Given the description of an element on the screen output the (x, y) to click on. 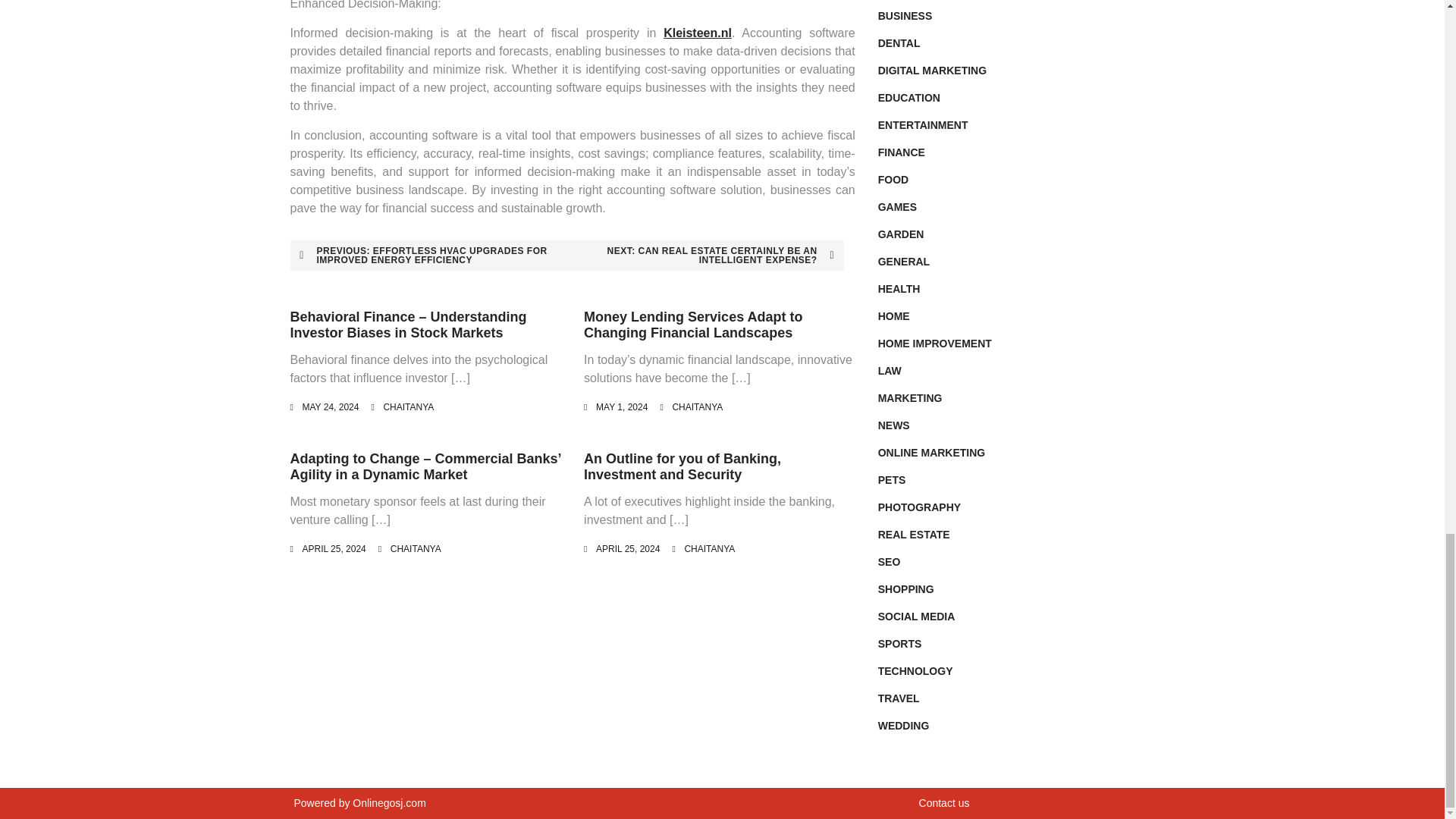
MAY 24, 2024 (329, 407)
CHAITANYA (709, 548)
NEXT: CAN REAL ESTATE CERTAINLY BE AN INTELLIGENT EXPENSE? (705, 255)
An Outline for you of Banking, Investment and Security (681, 467)
CHAITANYA (696, 407)
Kleisteen.nl (697, 32)
MAY 1, 2024 (621, 407)
APRIL 25, 2024 (333, 548)
CHAITANYA (415, 548)
CHAITANYA (407, 407)
APRIL 25, 2024 (627, 548)
